Given the description of an element on the screen output the (x, y) to click on. 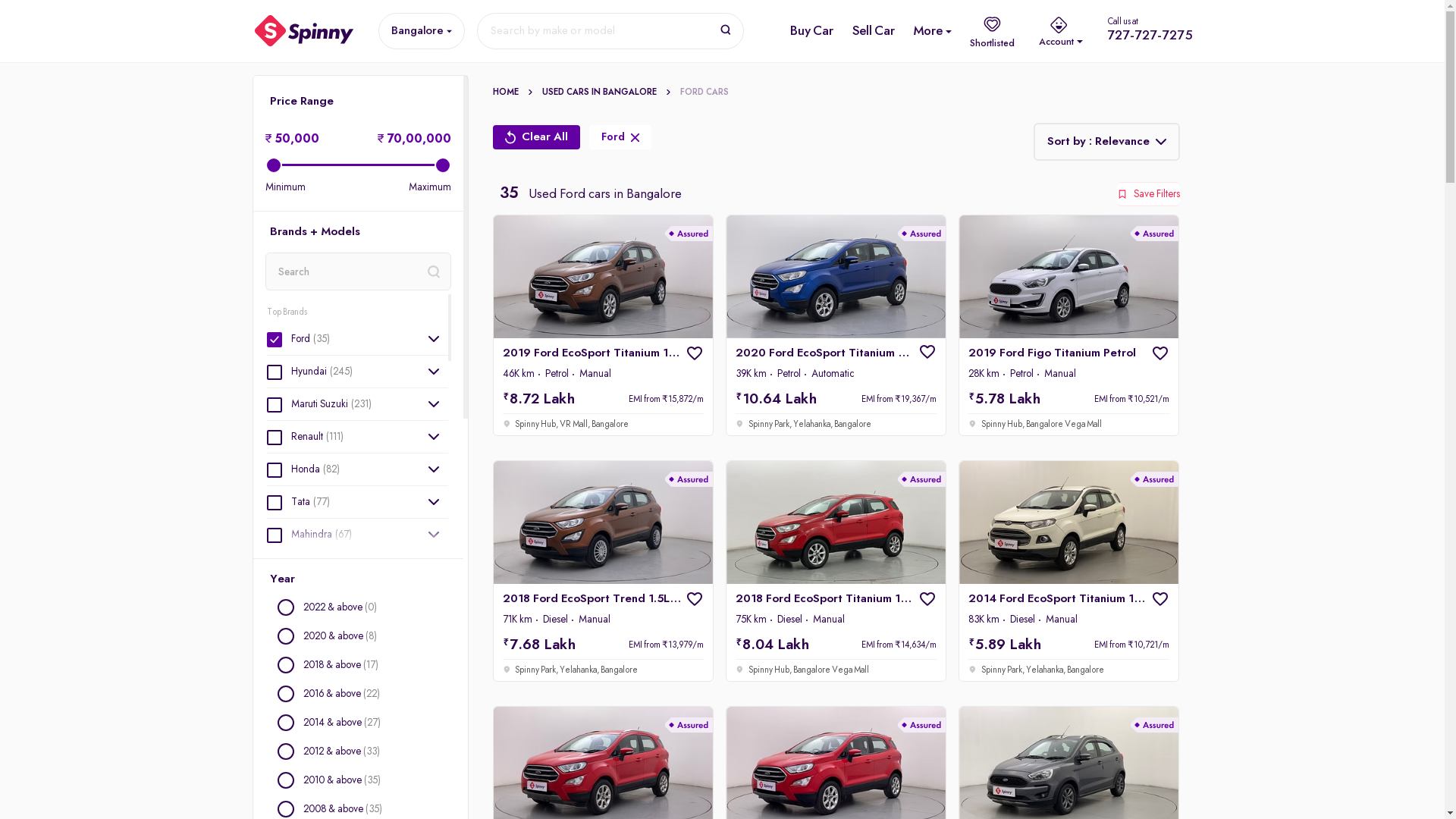
 ford Cars (704, 92)
Home (517, 92)
Shortlisted (991, 30)
2018 Ford EcoSport Titanium 1.5L TDCi (835, 570)
2019 Ford EcoSport Titanium 1.5L Ti-VCT (603, 324)
Used cars In Bangalore (610, 92)
Year (357, 579)
Price Range (357, 101)
Shortlisted (991, 31)
0 (357, 164)
Buy Car (810, 31)
Sell Car (873, 31)
2020 Ford Freestyle Titanium 1.5 TDCI (1068, 762)
34 (357, 164)
Account (1061, 30)
